Given the description of an element on the screen output the (x, y) to click on. 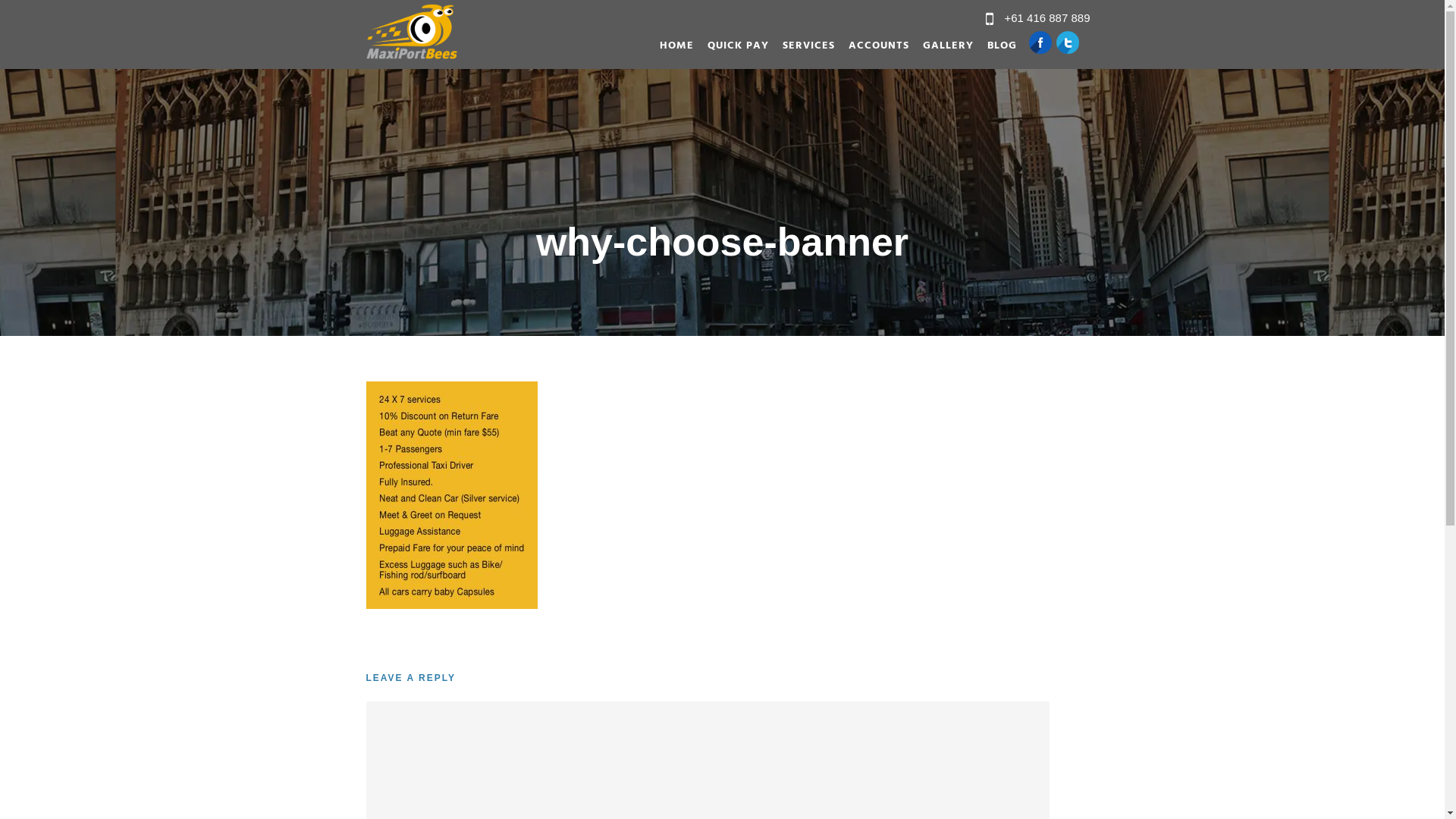
GALLERY Element type: text (940, 50)
ACCOUNTS Element type: text (871, 50)
QUICK PAY Element type: text (730, 50)
HOME Element type: text (676, 50)
+61 416 887 889 Element type: text (1046, 17)
BLOG Element type: text (994, 50)
SERVICES Element type: text (801, 50)
